Given the description of an element on the screen output the (x, y) to click on. 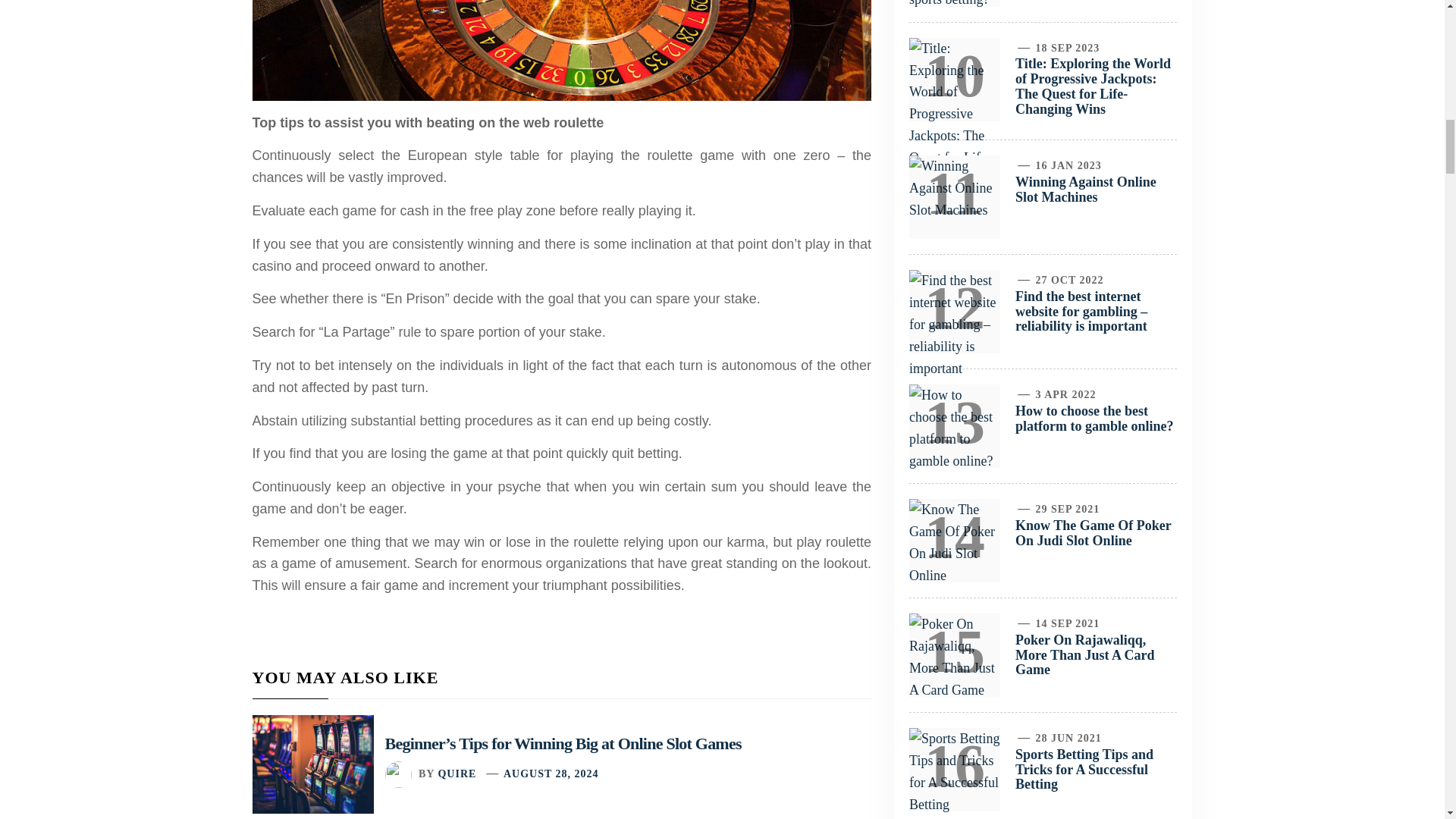
Online Slot Games (560, 49)
QUIRE (457, 773)
AUGUST 28, 2024 (550, 773)
